Given the description of an element on the screen output the (x, y) to click on. 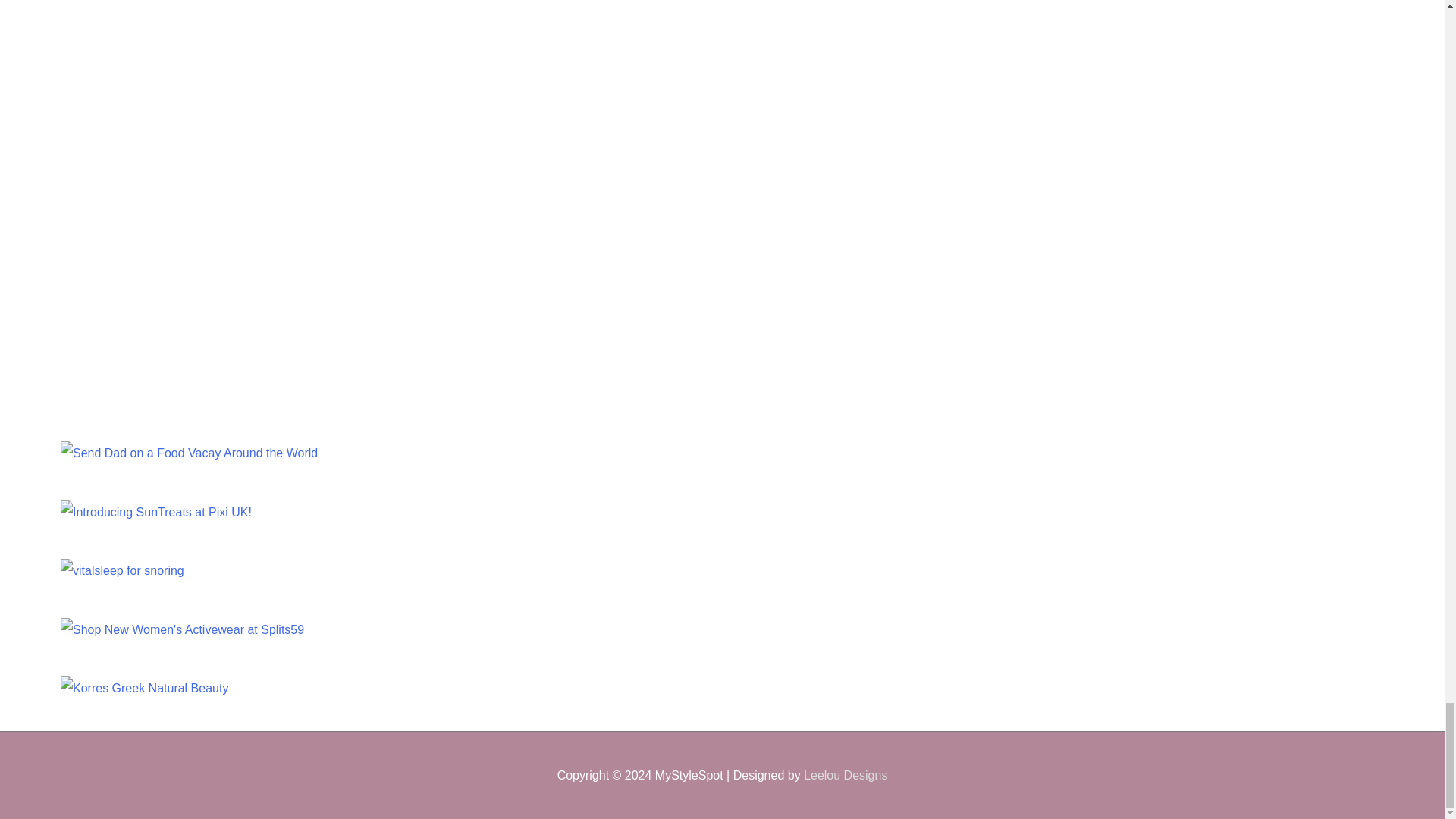
Send Dad on a Food Vacay Around the World (189, 453)
Shop New Women's Activewear at Splits59 (182, 630)
Korres Greek Natural Beauty (144, 688)
Introducing SunTreats at Pixi UK! (156, 512)
